Given the description of an element on the screen output the (x, y) to click on. 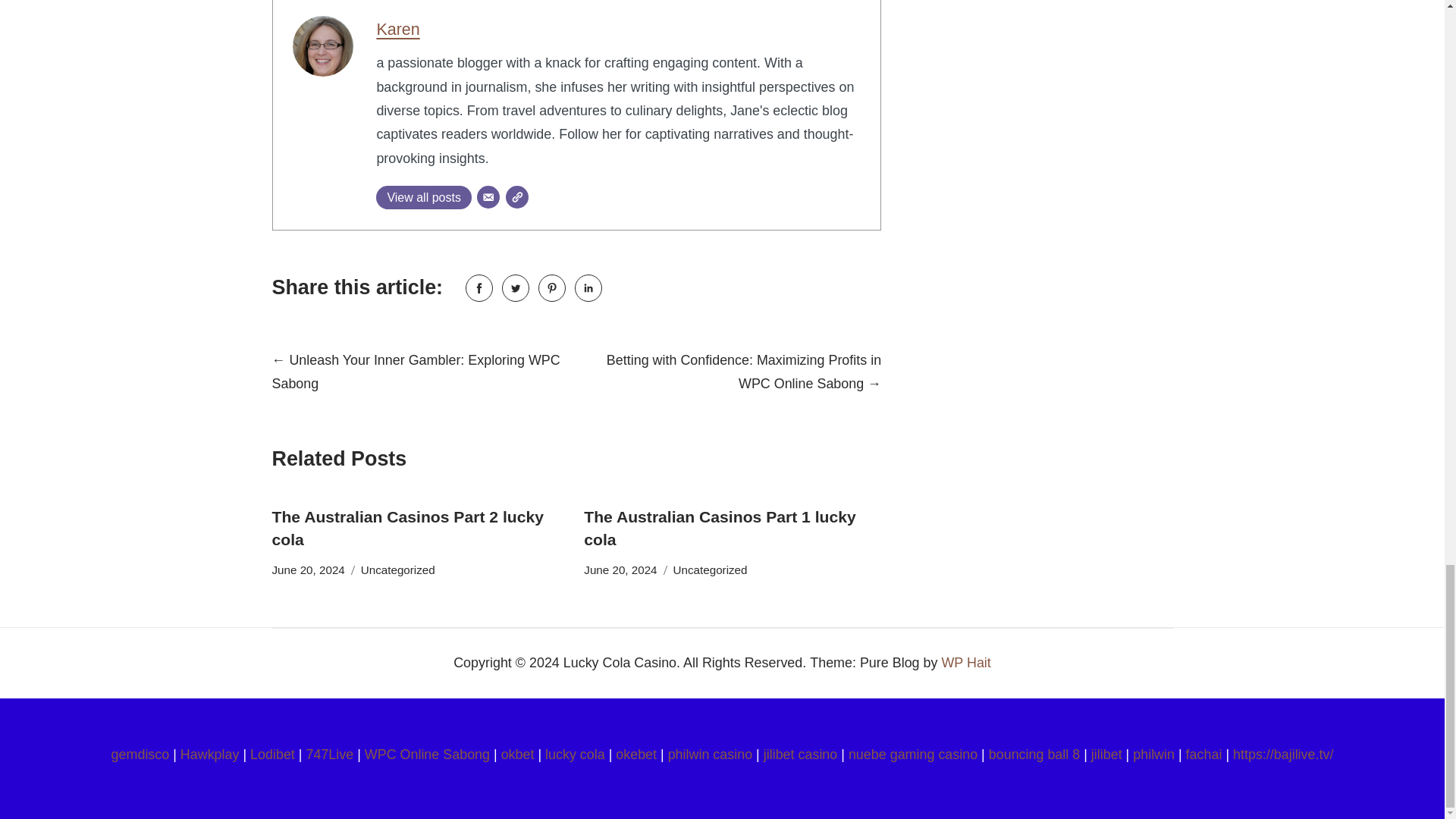
View all posts (423, 197)
Karen (397, 29)
The Australian Casinos Part 2 lucky cola (406, 527)
Uncategorized (398, 570)
Karen (397, 29)
June 20, 2024 (619, 570)
The Australian Casinos Part 1 lucky cola (719, 527)
June 20, 2024 (306, 570)
View all posts (423, 197)
Uncategorized (710, 570)
